Given the description of an element on the screen output the (x, y) to click on. 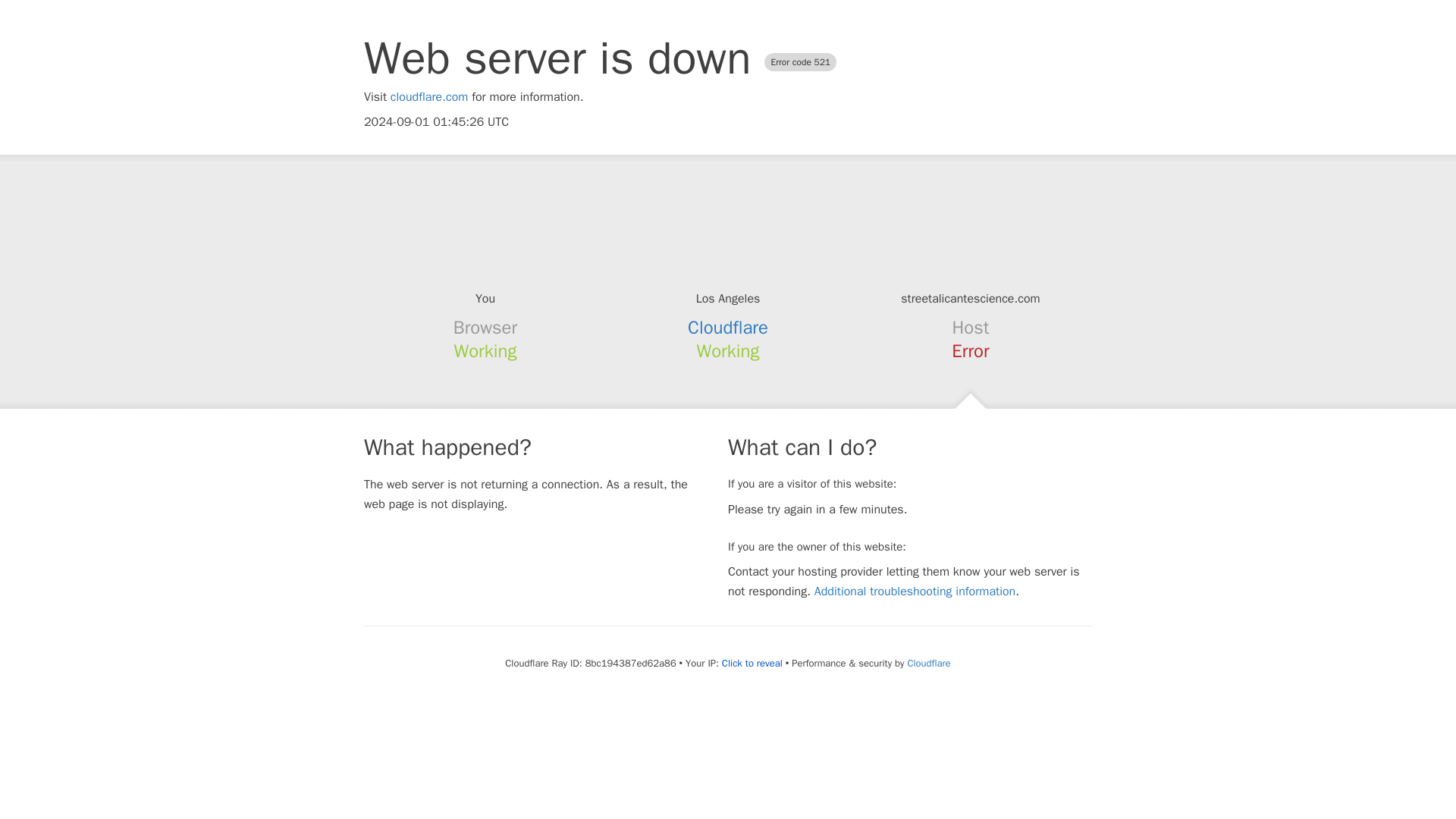
Cloudflare (928, 662)
Additional troubleshooting information (913, 590)
Cloudflare (727, 327)
Click to reveal (752, 663)
cloudflare.com (429, 96)
